Given the description of an element on the screen output the (x, y) to click on. 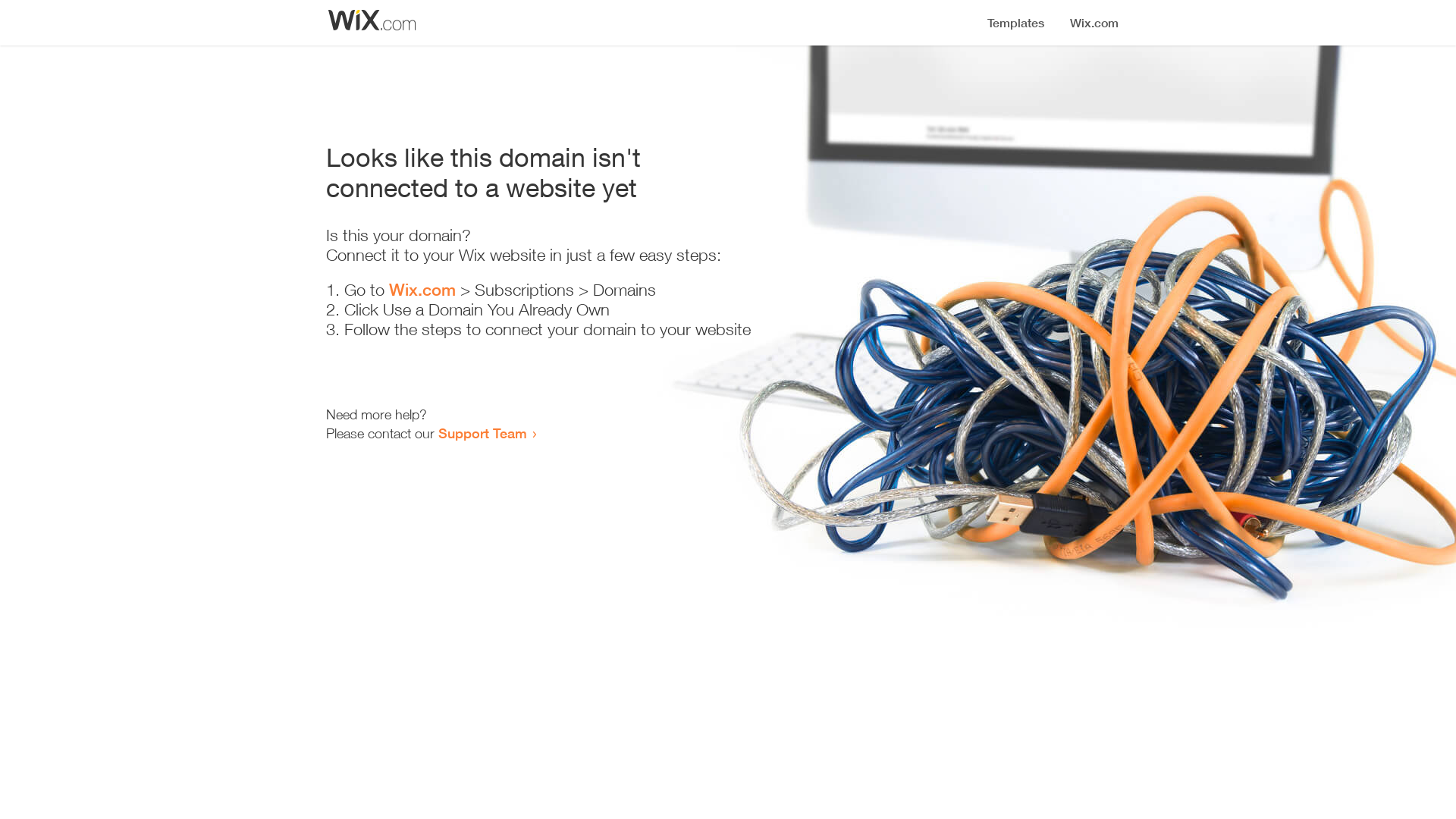
Support Team Element type: text (482, 432)
Wix.com Element type: text (422, 289)
